Given the description of an element on the screen output the (x, y) to click on. 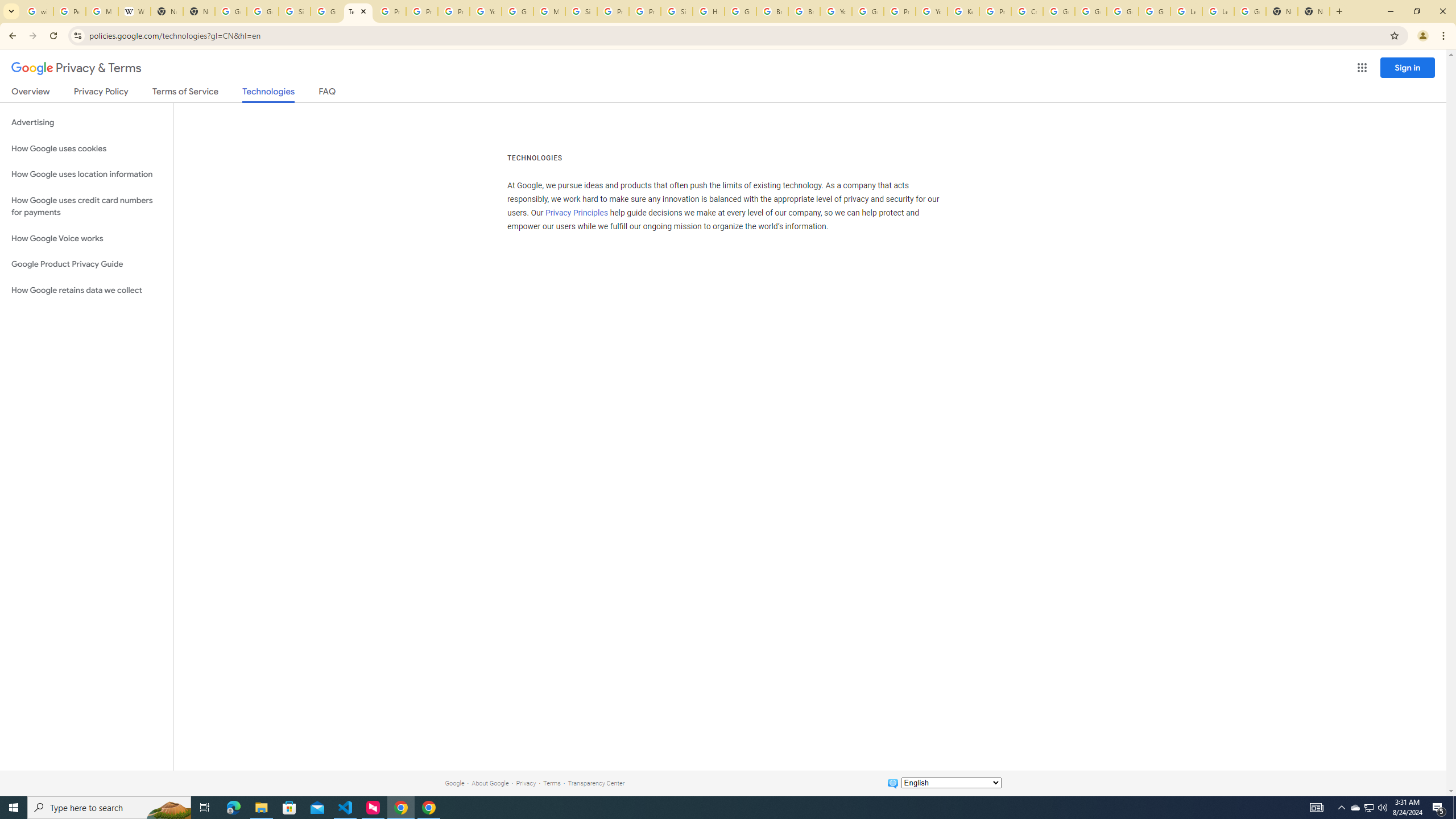
Personalization & Google Search results - Google Search Help (69, 11)
How Google uses credit card numbers for payments (86, 206)
Transparency Center (595, 783)
About Google (490, 783)
YouTube (836, 11)
Google Account Help (1091, 11)
New Tab (1281, 11)
